Given the description of an element on the screen output the (x, y) to click on. 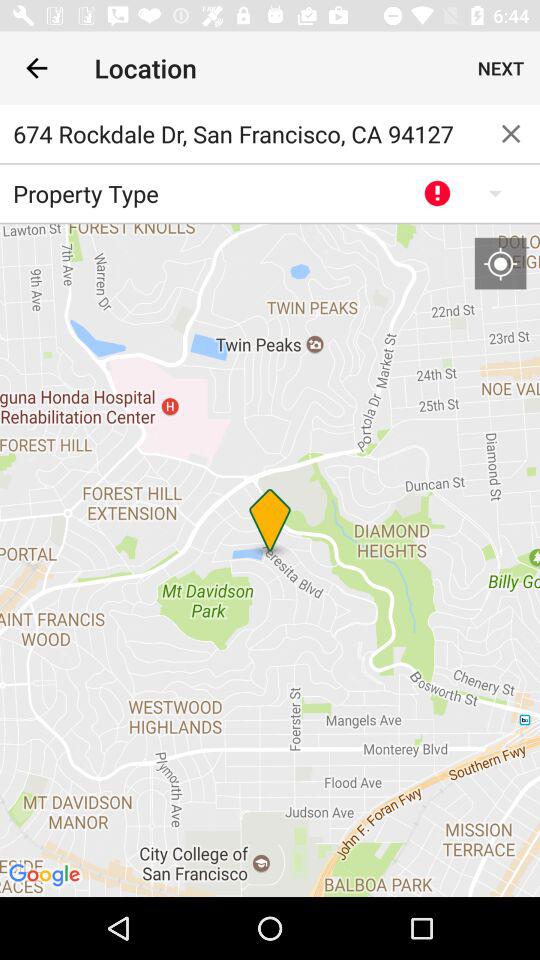
turn off the icon below next item (511, 133)
